Given the description of an element on the screen output the (x, y) to click on. 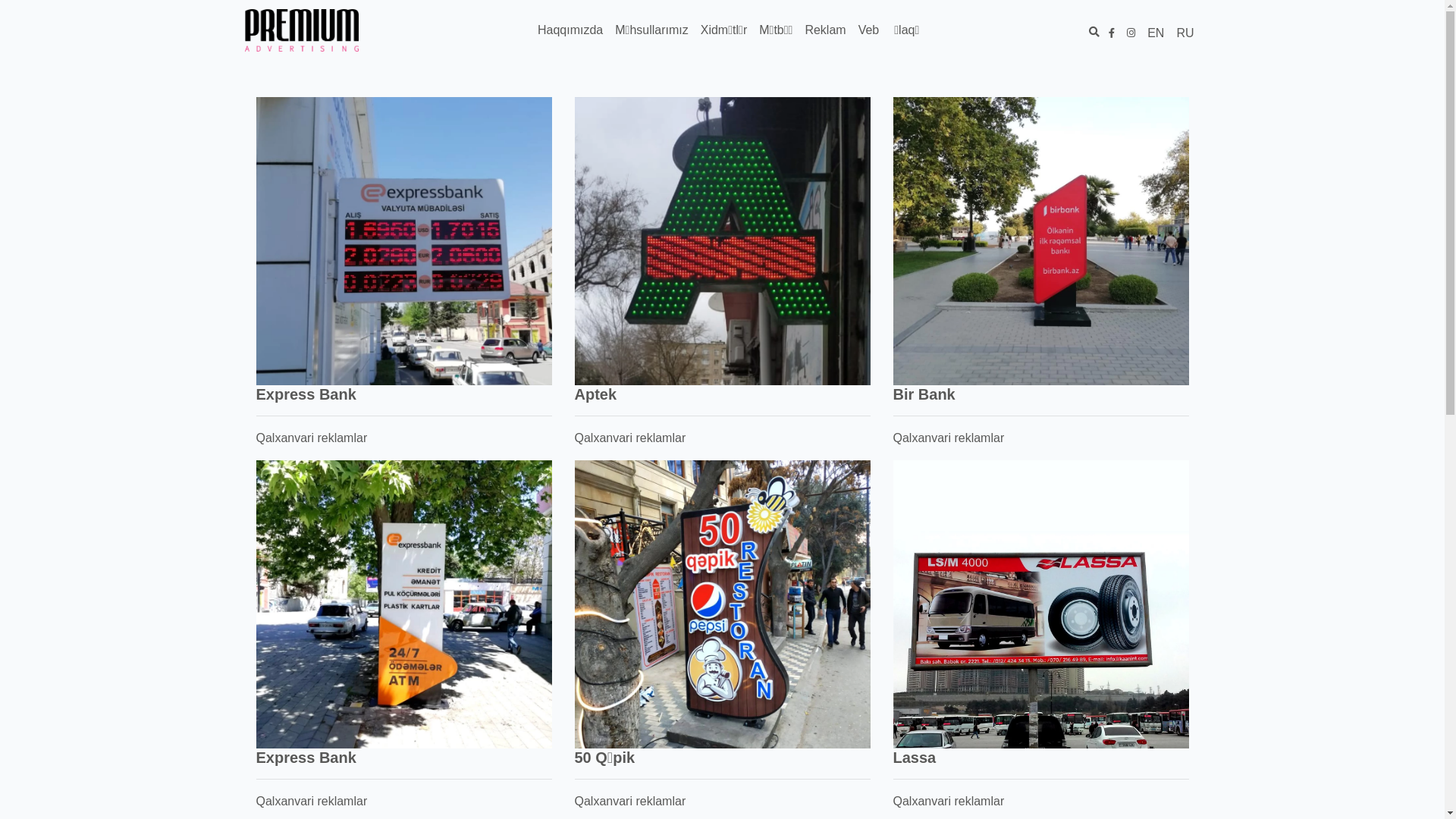
Bir Bank
Qalxanvari reklamlar Element type: text (1041, 341)
RU Element type: text (1184, 33)
Veb Element type: text (868, 30)
Express Bank
Qalxanvari reklamlar Element type: text (404, 703)
EN Element type: text (1155, 33)
Express Bank
Qalxanvari reklamlar Element type: text (404, 341)
Lassa
Qalxanvari reklamlar Element type: text (1041, 703)
Reklam Element type: text (824, 30)
Aptek
Qalxanvari reklamlar Element type: text (722, 341)
